Given the description of an element on the screen output the (x, y) to click on. 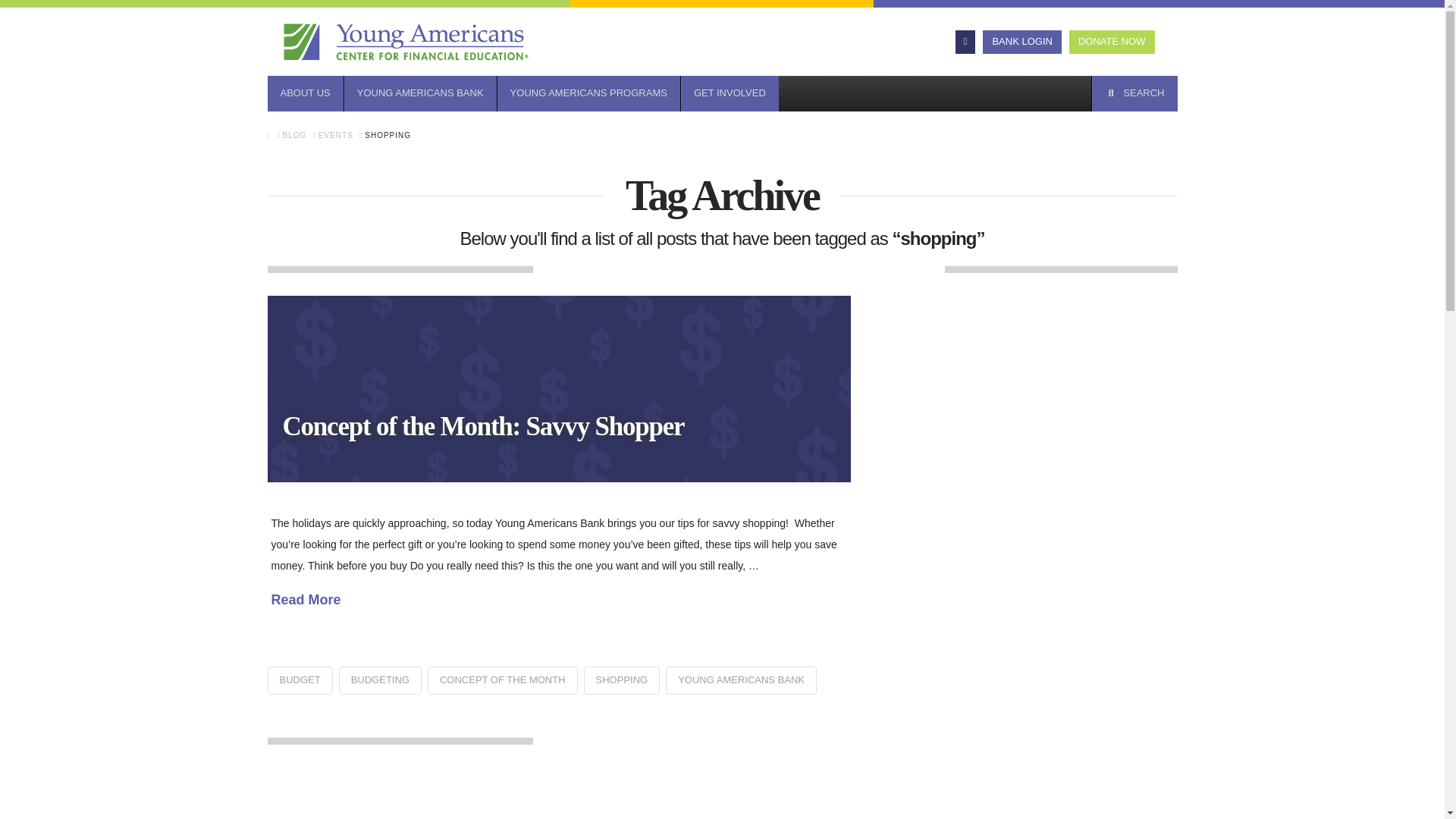
You Are Here (387, 135)
DONATE NOW (1111, 42)
ABOUT US (304, 93)
BANK LOGIN (1021, 42)
